Given the description of an element on the screen output the (x, y) to click on. 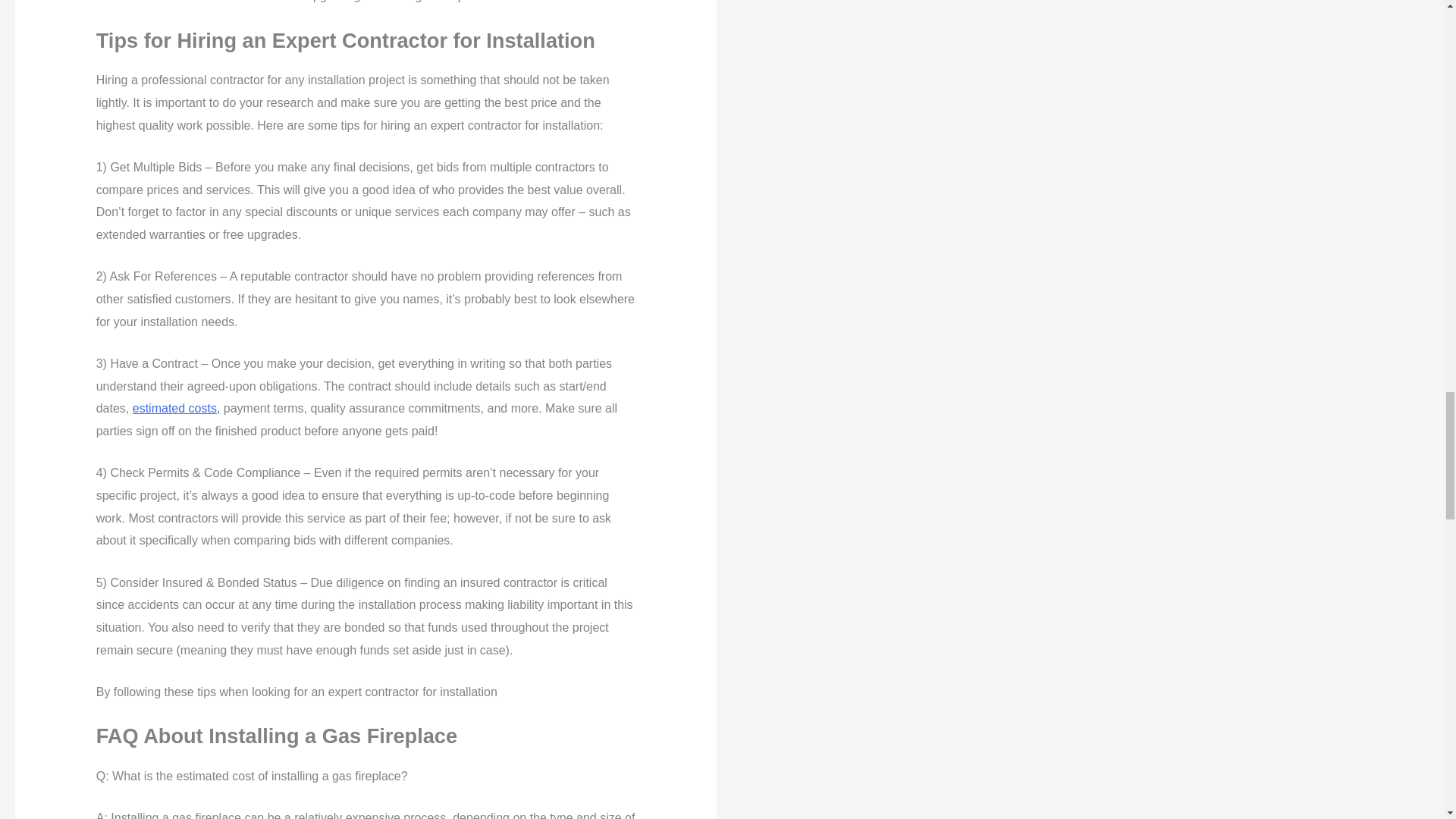
estimated costs, (176, 408)
